Given the description of an element on the screen output the (x, y) to click on. 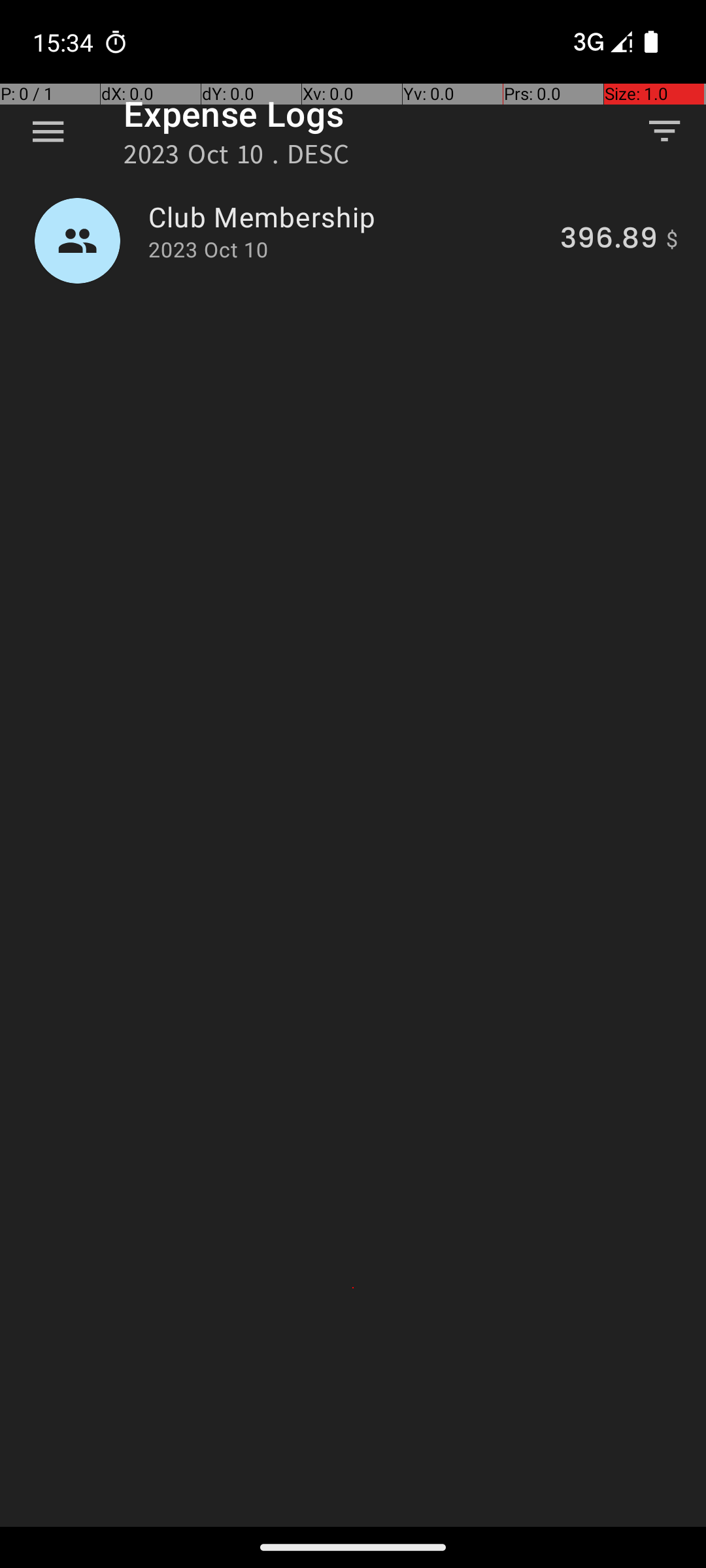
2023 Oct 10 . DESC Element type: android.widget.TextView (236, 157)
Club Membership Element type: android.widget.TextView (346, 216)
396.89 Element type: android.widget.TextView (608, 240)
